Given the description of an element on the screen output the (x, y) to click on. 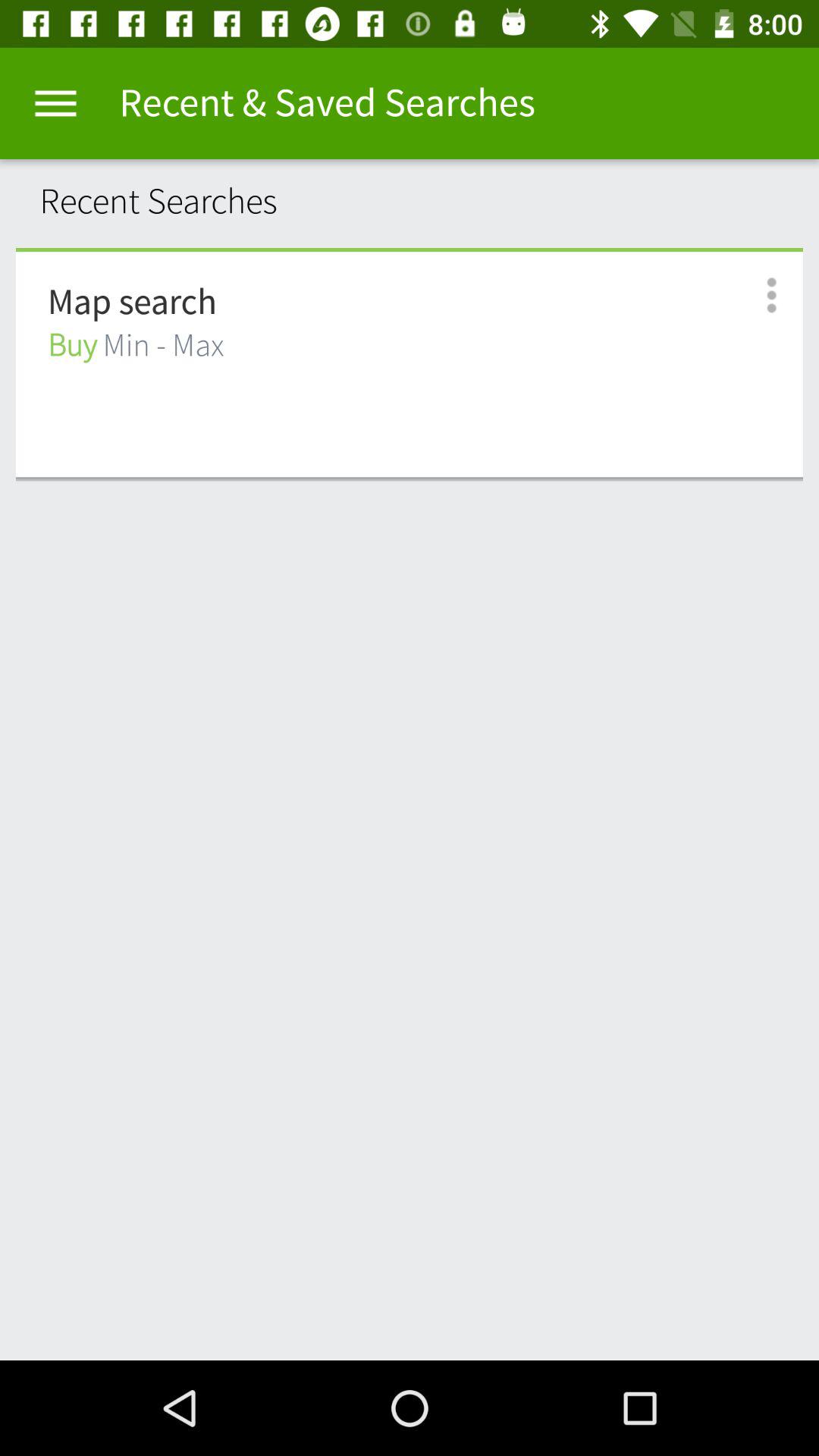
press item above the recent searches icon (55, 103)
